Given the description of an element on the screen output the (x, y) to click on. 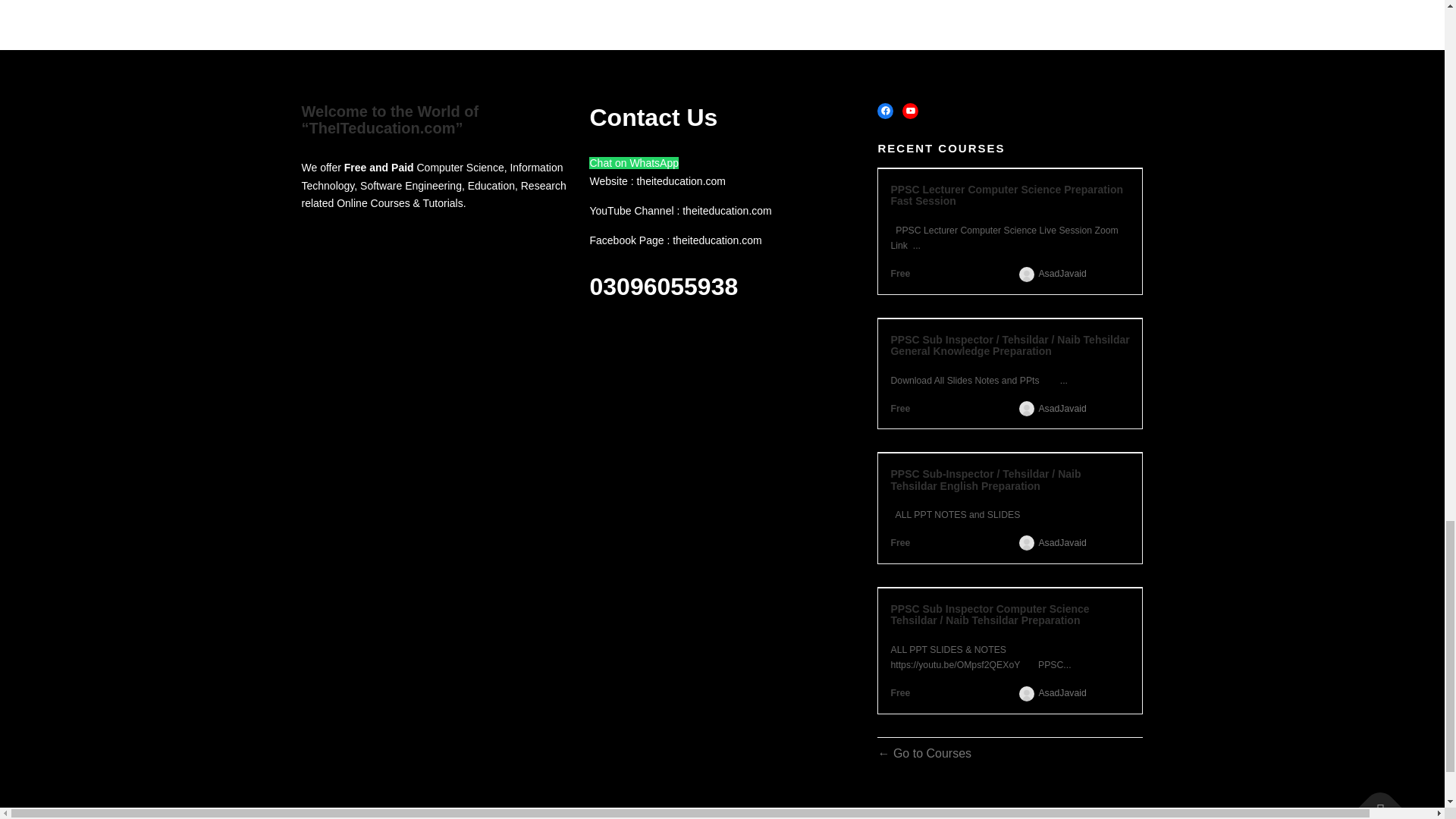
AsadJavaid (1062, 408)
YouTube (910, 110)
Back To Top (1372, 802)
Chat on WhatsApp (633, 162)
AsadJavaid (1062, 543)
Facebook (885, 110)
AsadJavaid (1062, 273)
AsadJavaid (1062, 693)
Go to Courses (924, 753)
PPSC Lecturer Computer Science Preparation Fast Session (1009, 196)
